Given the description of an element on the screen output the (x, y) to click on. 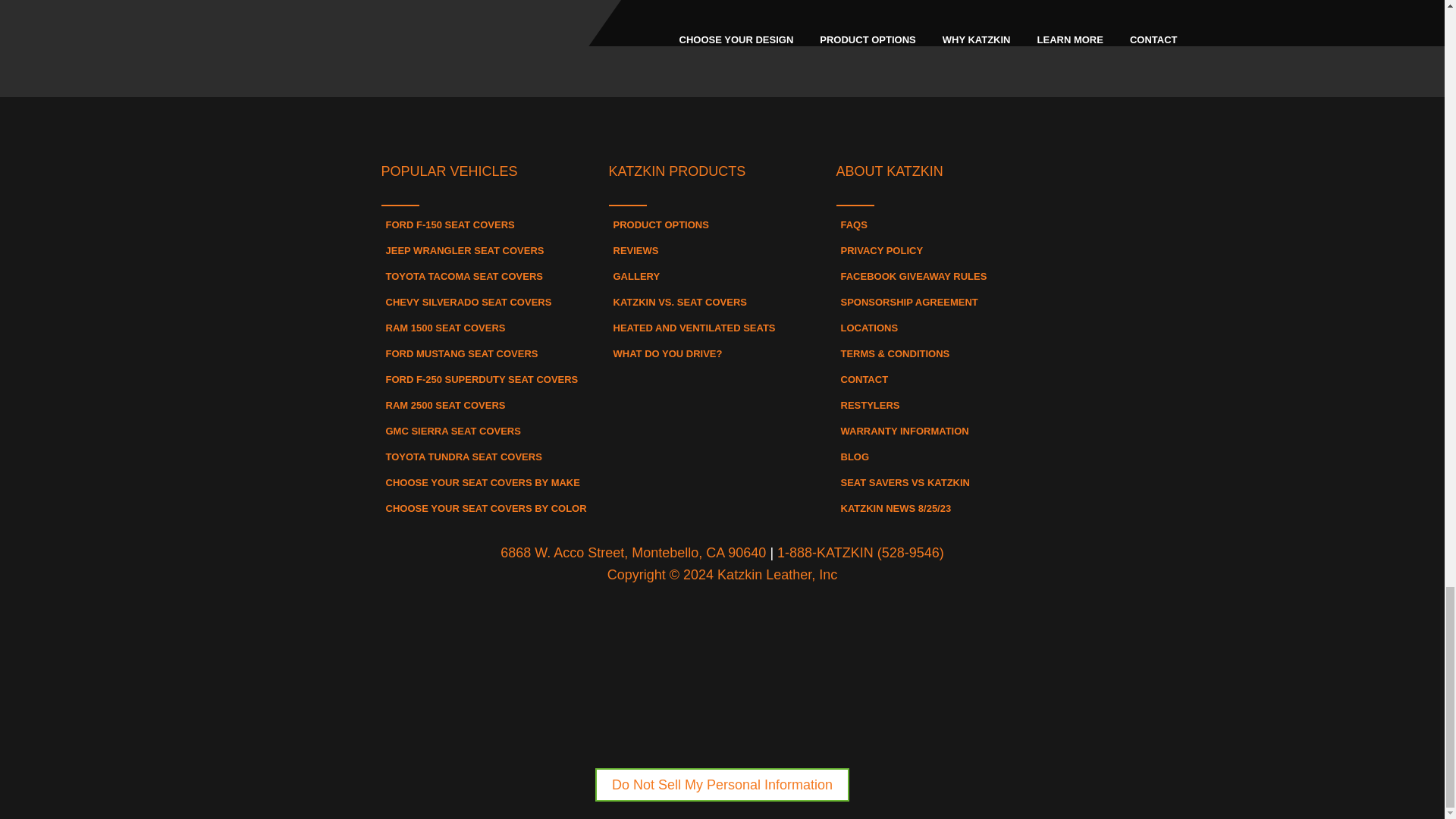
Facebook (638, 125)
Instagram (721, 125)
Youtube (804, 125)
